Given the description of an element on the screen output the (x, y) to click on. 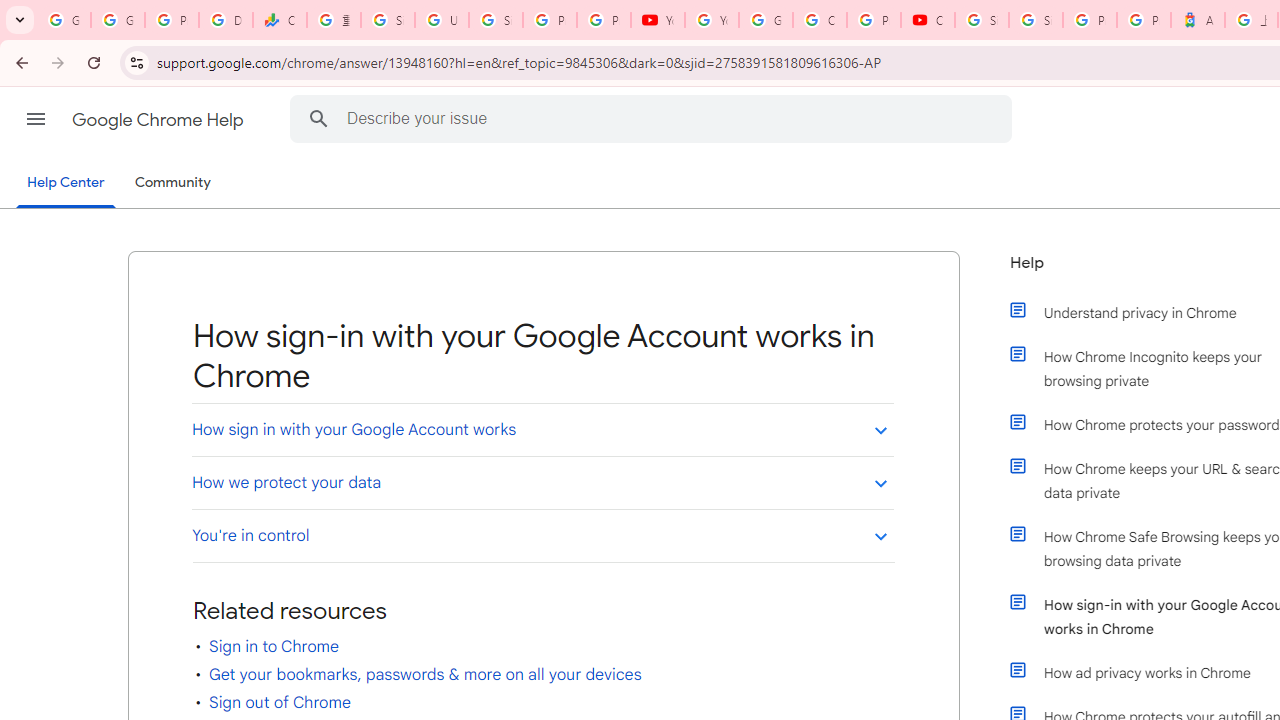
Help Center (65, 183)
How we protect your data (542, 482)
Google Workspace Admin Community (63, 20)
You're in control (542, 535)
Sign in - Google Accounts (1035, 20)
Google Account Help (765, 20)
Sign in to Chrome (274, 646)
Community (171, 183)
